Given the description of an element on the screen output the (x, y) to click on. 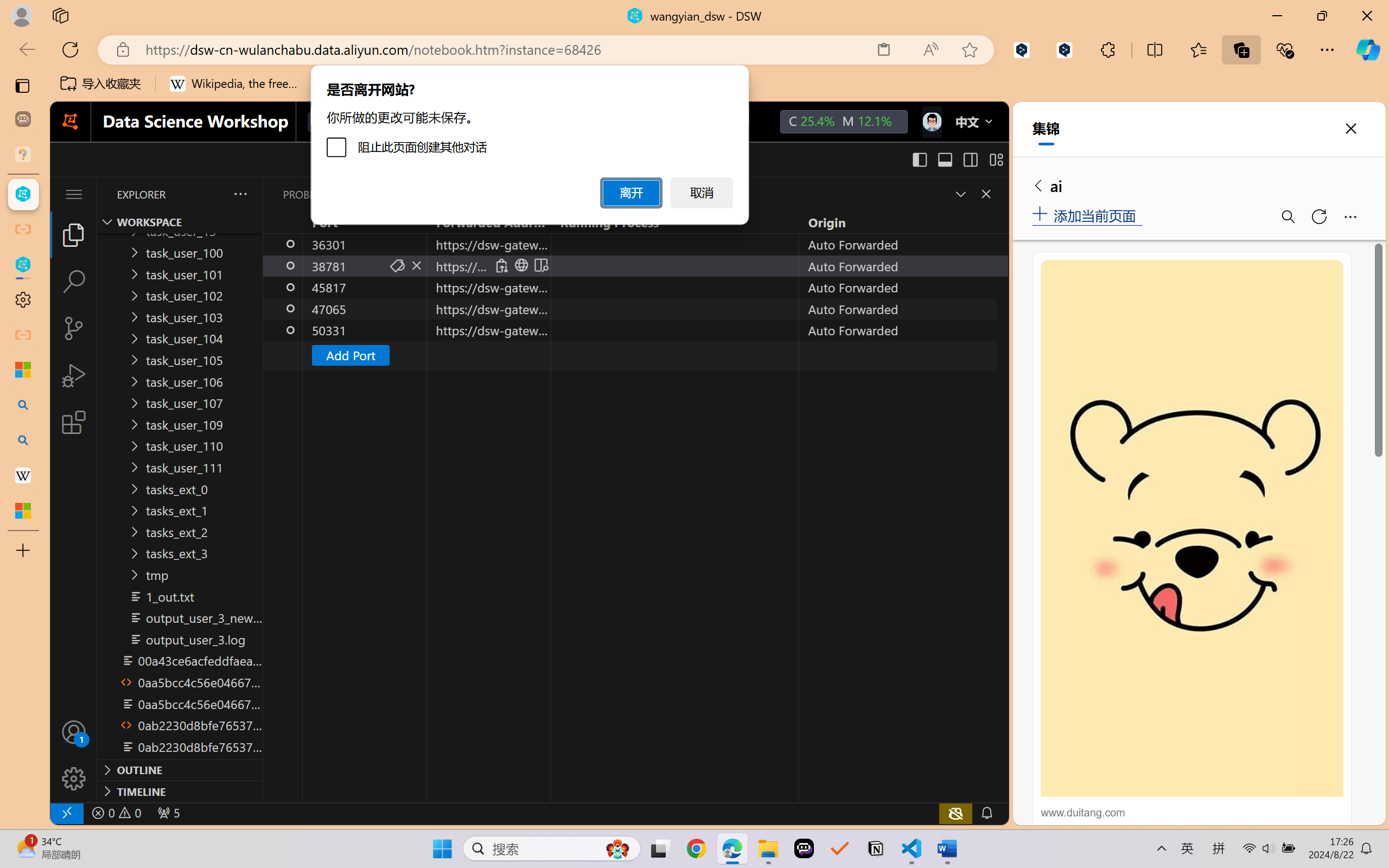
remote (66, 812)
Application Menu (73, 194)
Manage (73, 778)
